Given the description of an element on the screen output the (x, y) to click on. 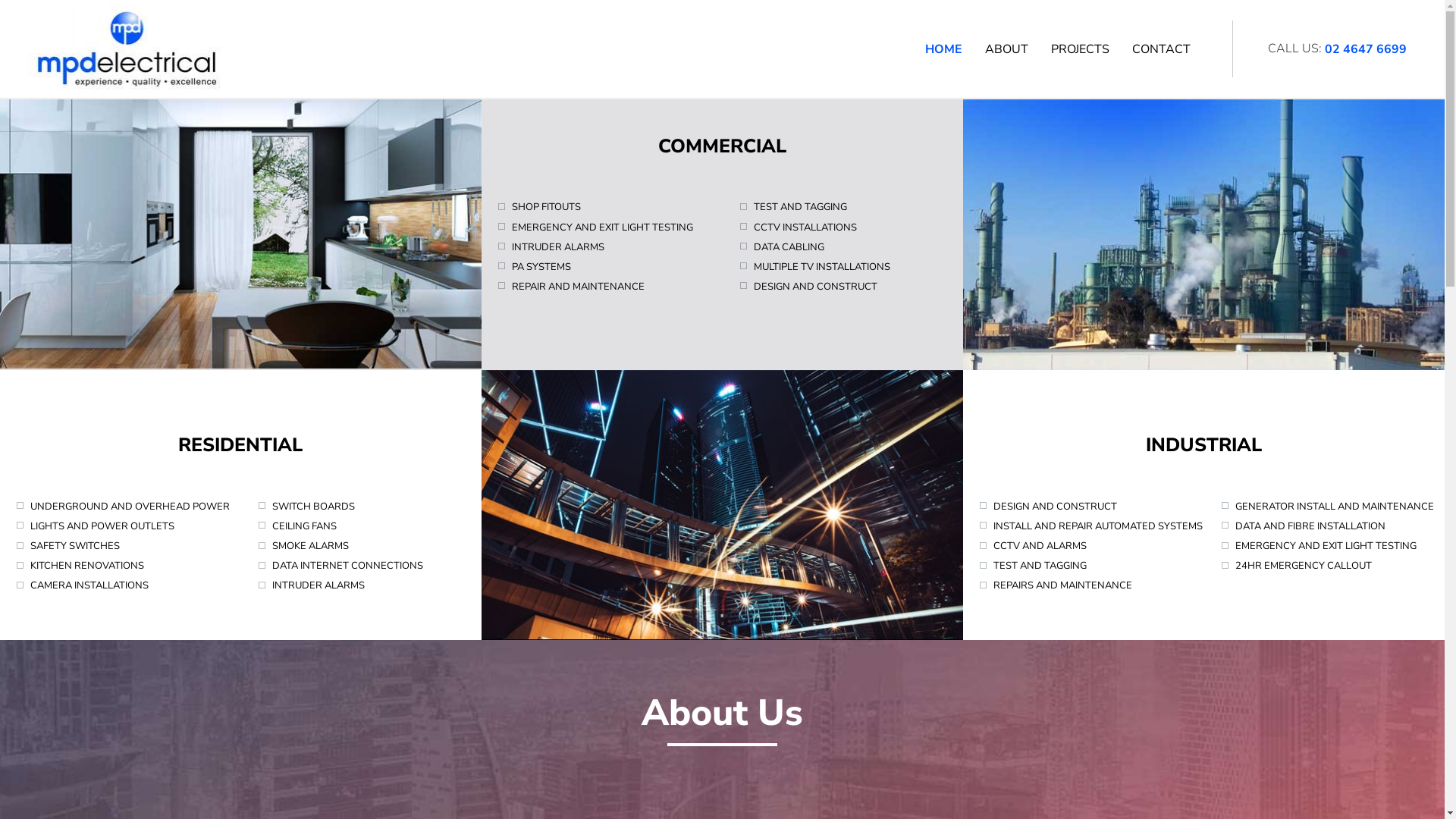
HOME Element type: text (943, 48)
ABOUT Element type: text (1006, 48)
02 4647 6699 Element type: text (1365, 49)
PROJECTS Element type: text (1079, 48)
CONTACT Element type: text (1160, 48)
